Given the description of an element on the screen output the (x, y) to click on. 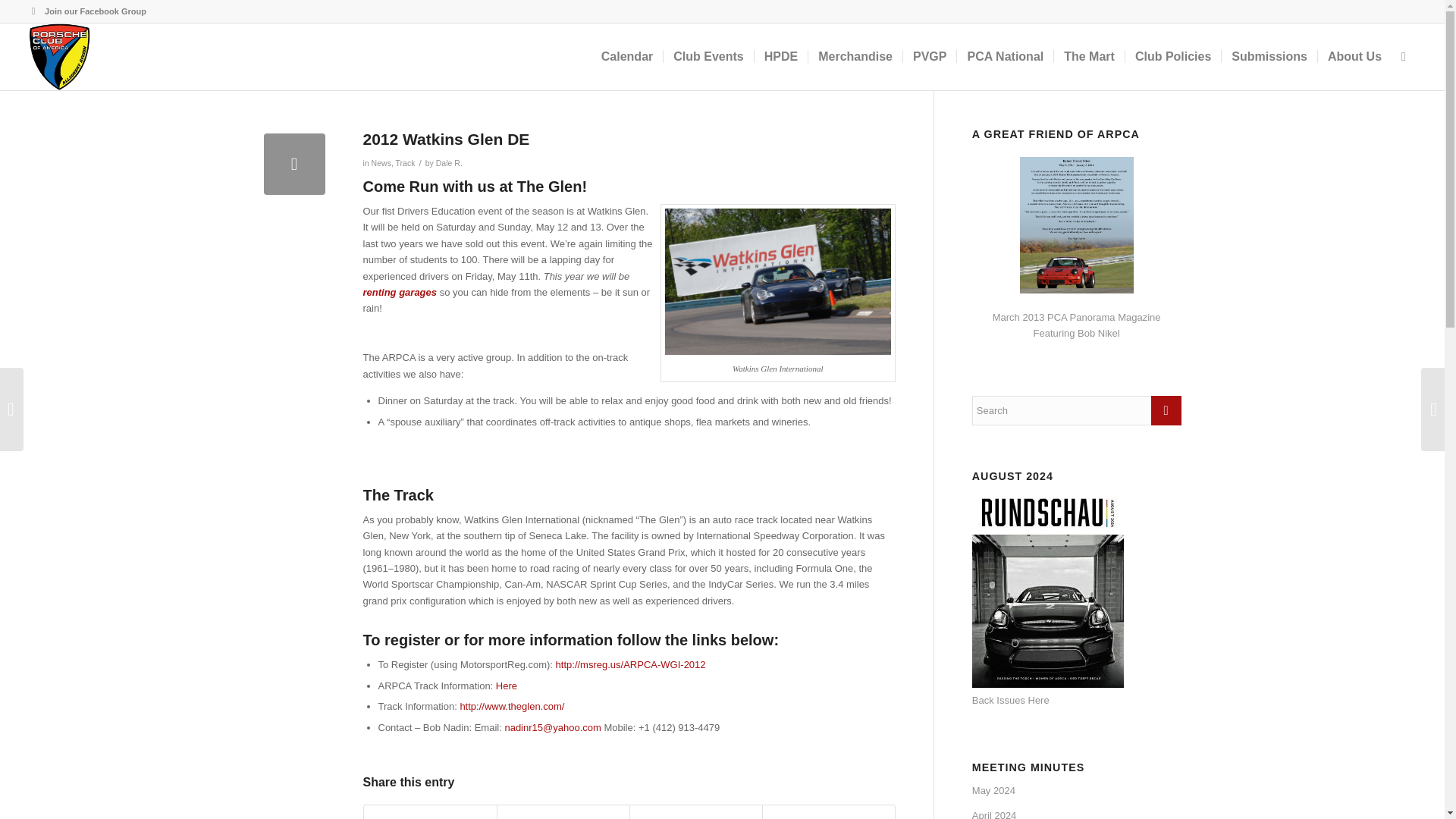
The Mart (1088, 56)
Posts by Dale R. (449, 162)
Supporting Materials (506, 685)
Club Policies (1172, 56)
Merchandise (855, 56)
Club Events (707, 56)
Facebook (33, 11)
2012 Watkins Glen DE (293, 163)
Submissions (1269, 56)
DE WGI 2010 (778, 281)
PCA National (1004, 56)
Calendar (626, 56)
